Given the description of an element on the screen output the (x, y) to click on. 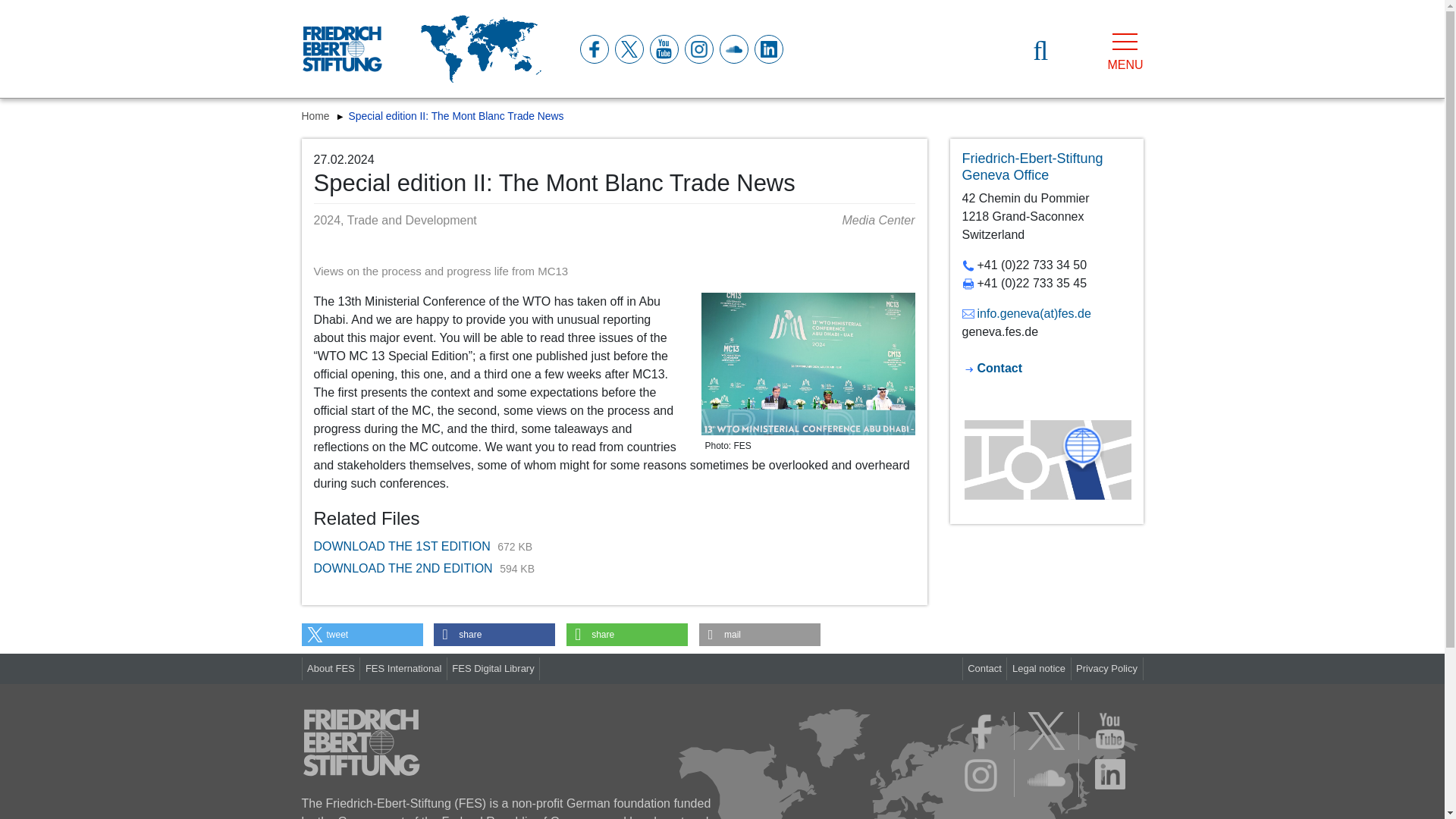
twitter (628, 48)
Share on Facebook (493, 634)
internal link (1031, 166)
instagram (698, 48)
Internal Link (991, 367)
Share on Twitter (362, 634)
send email (1025, 313)
share (493, 634)
DOWNLOAD THE 2ND EDITION (405, 567)
Share on Whatsapp (626, 634)
Link to Home Page (341, 48)
2024 02 MC13 (807, 363)
facebook (593, 48)
Send by email (759, 634)
Special edition II: The Mont Blanc Trade News (456, 115)
